Given the description of an element on the screen output the (x, y) to click on. 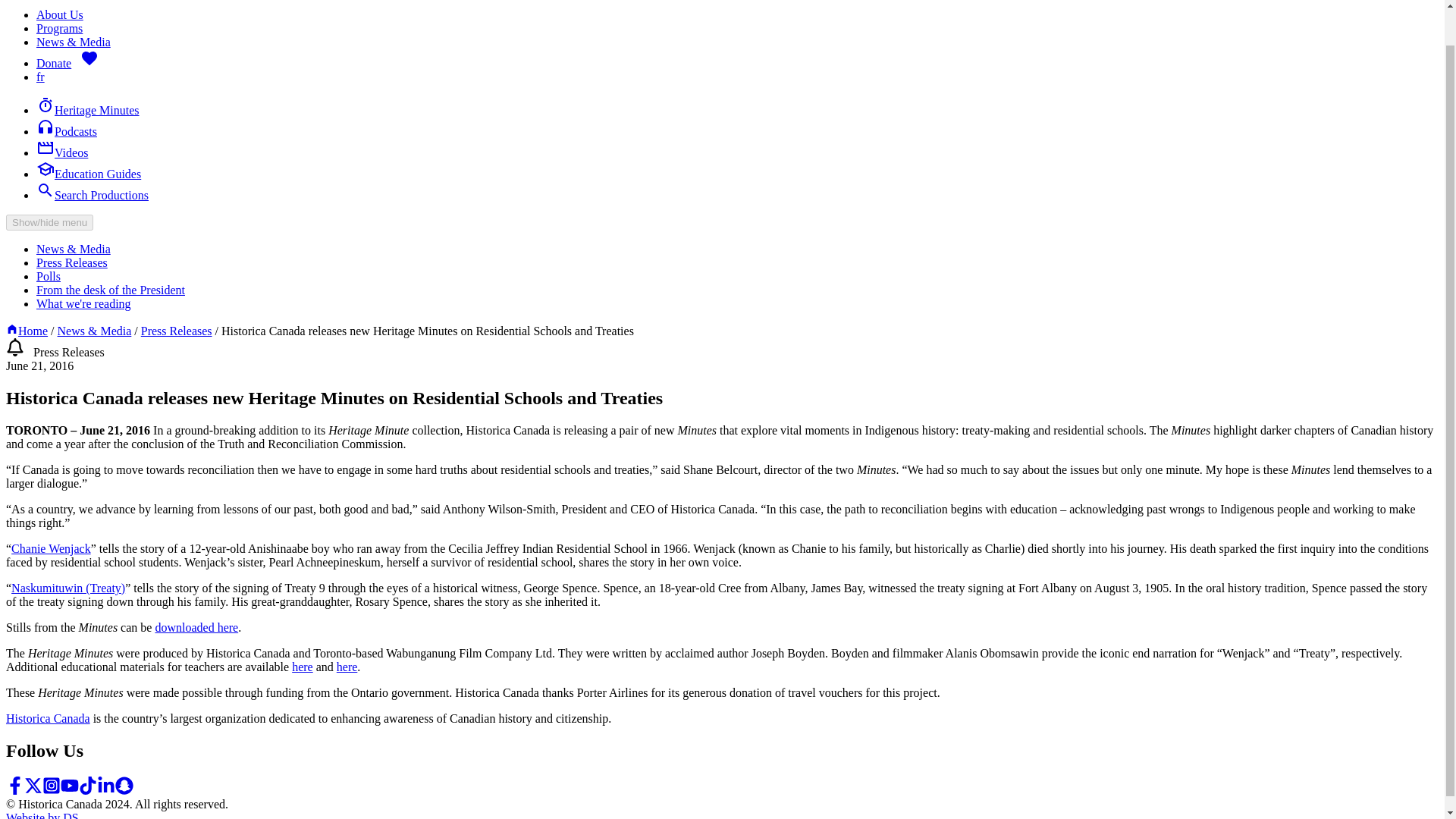
YouTube (69, 785)
Press Releases (71, 262)
Videos (61, 152)
Snapchat (124, 785)
TikTok (87, 785)
From the desk of the President (110, 289)
Chanie Wenjack (50, 548)
Historica Canada (47, 717)
Heritage Minutes (87, 110)
downloaded here (196, 626)
here (302, 666)
Instagram (51, 789)
TikTok (87, 789)
Search ProductionsSearch Productions (92, 195)
Home (26, 330)
